Given the description of an element on the screen output the (x, y) to click on. 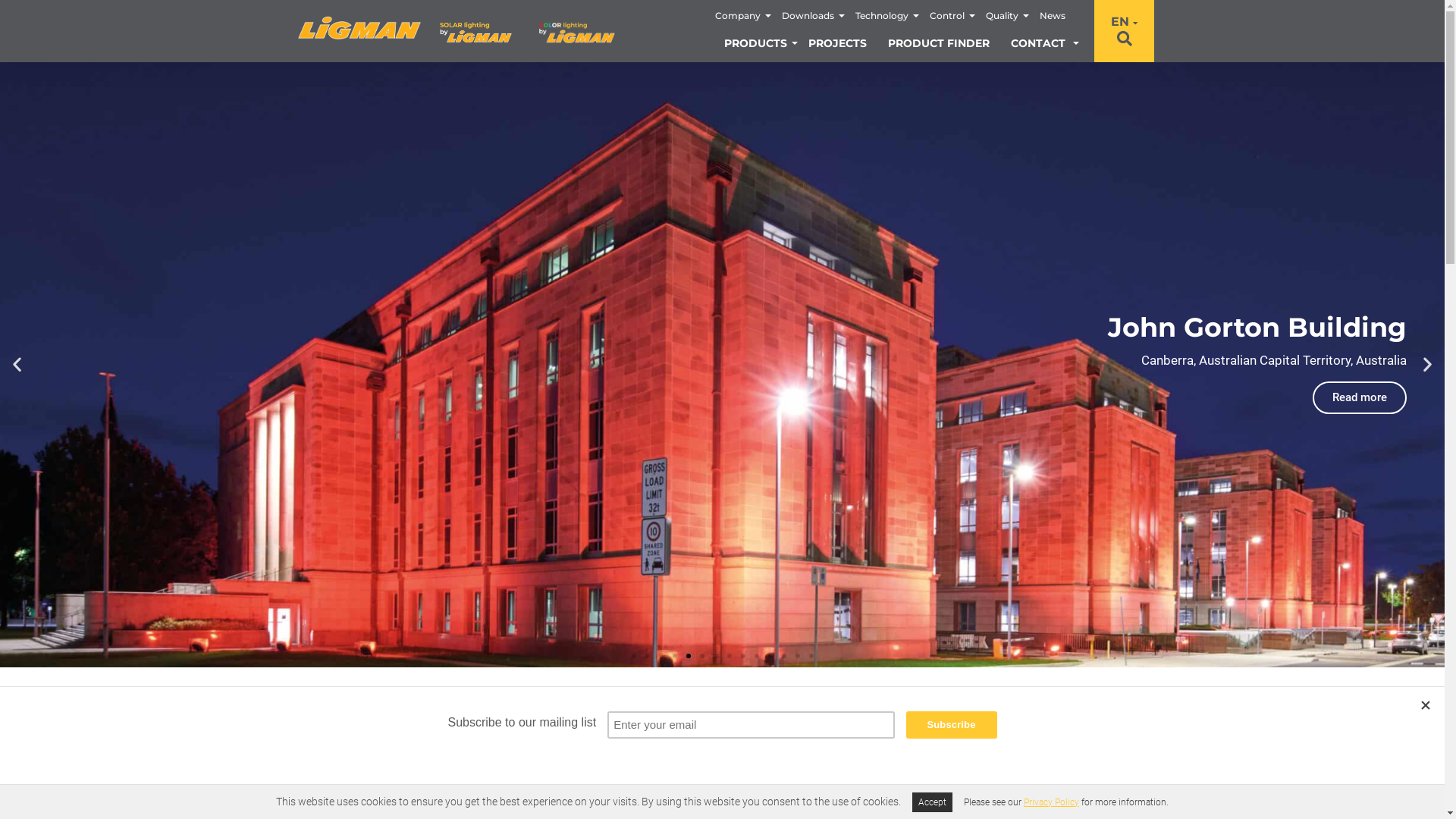
PRODUCTS Element type: text (755, 43)
PROJECTS Element type: text (347, 725)
Accept Element type: text (932, 802)
Quality Element type: text (1002, 15)
Privacy Policy Element type: text (1051, 802)
Technology Element type: text (881, 15)
CONTACT Element type: text (1038, 43)
Control Element type: text (947, 15)
News Element type: text (1052, 15)
PROJECTS Element type: text (837, 43)
Downloads Element type: text (807, 15)
Company Element type: text (737, 15)
PRODUCT FINDER Element type: text (938, 43)
